Given the description of an element on the screen output the (x, y) to click on. 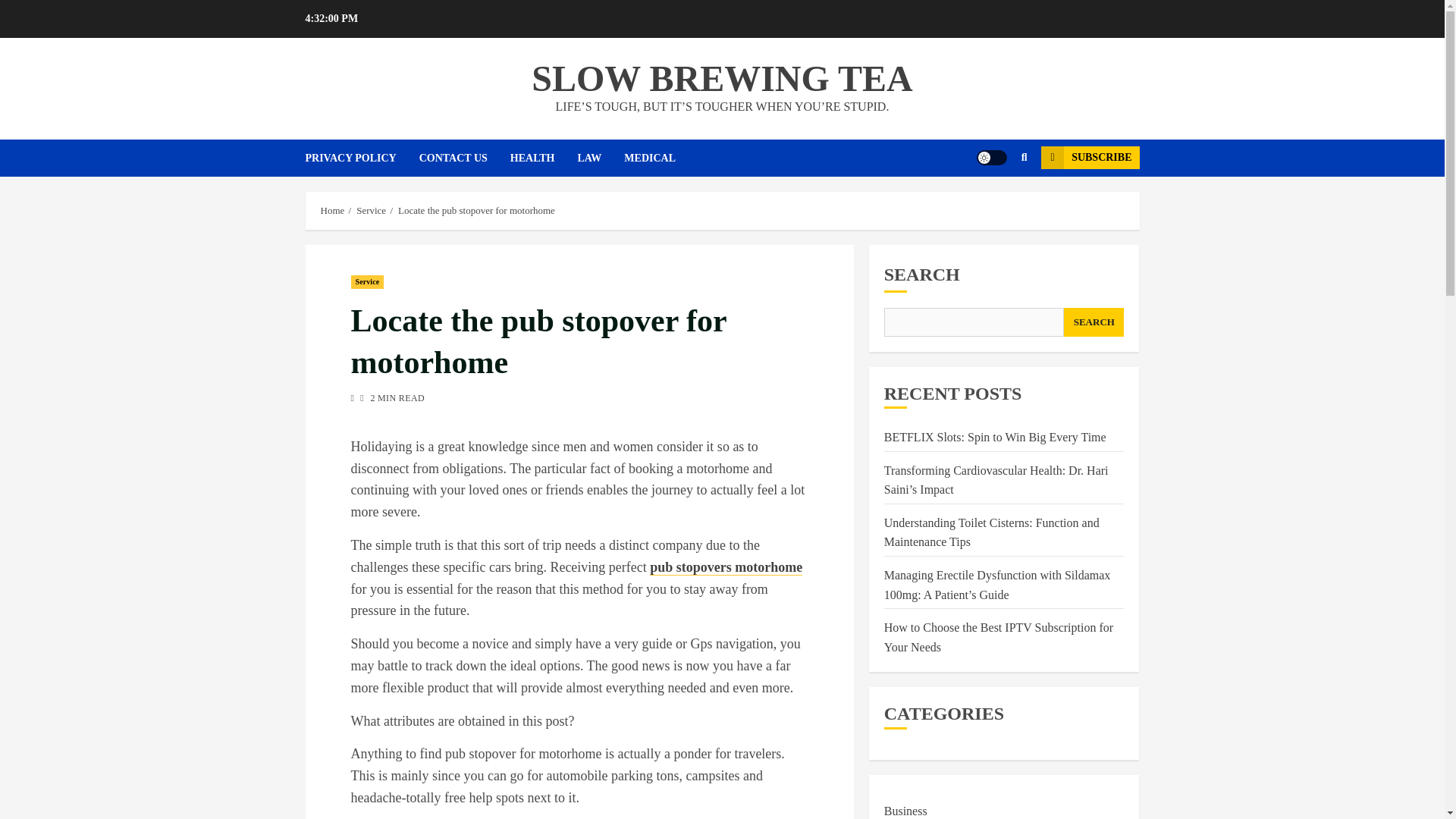
LAW (600, 157)
Service (367, 282)
How to Choose the Best IPTV Subscription for Your Needs (998, 637)
CONTACT US (465, 157)
SEARCH (1094, 321)
PRIVACY POLICY (361, 157)
Business (905, 809)
MEDICAL (661, 157)
Understanding Toilet Cisterns: Function and Maintenance Tips (991, 532)
Search (994, 203)
Home (331, 210)
pub stopovers motorhome (725, 567)
BETFLIX Slots: Spin to Win Big Every Time (994, 437)
SLOW BREWING TEA (721, 78)
HEALTH (544, 157)
